Given the description of an element on the screen output the (x, y) to click on. 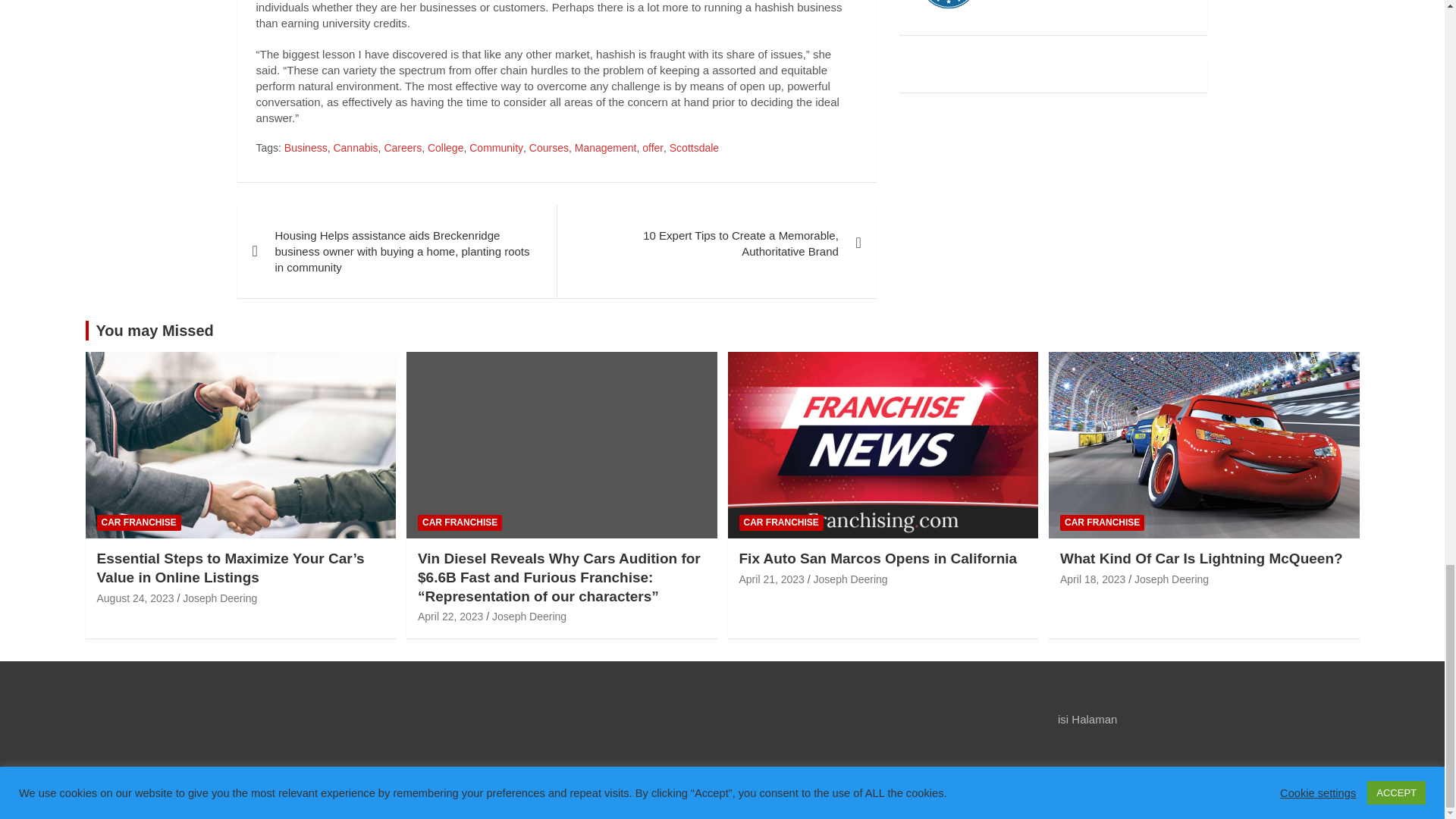
College (445, 148)
10 Expert Tips to Create a Memorable, Authoritative Brand (716, 242)
WordPress (680, 791)
Scottsdale (694, 148)
offer (652, 148)
Fix Auto San Marcos Opens in California (770, 579)
What Kind Of Car Is Lightning McQueen? (1092, 579)
Courses (549, 148)
Theme Horse (494, 791)
